Given the description of an element on the screen output the (x, y) to click on. 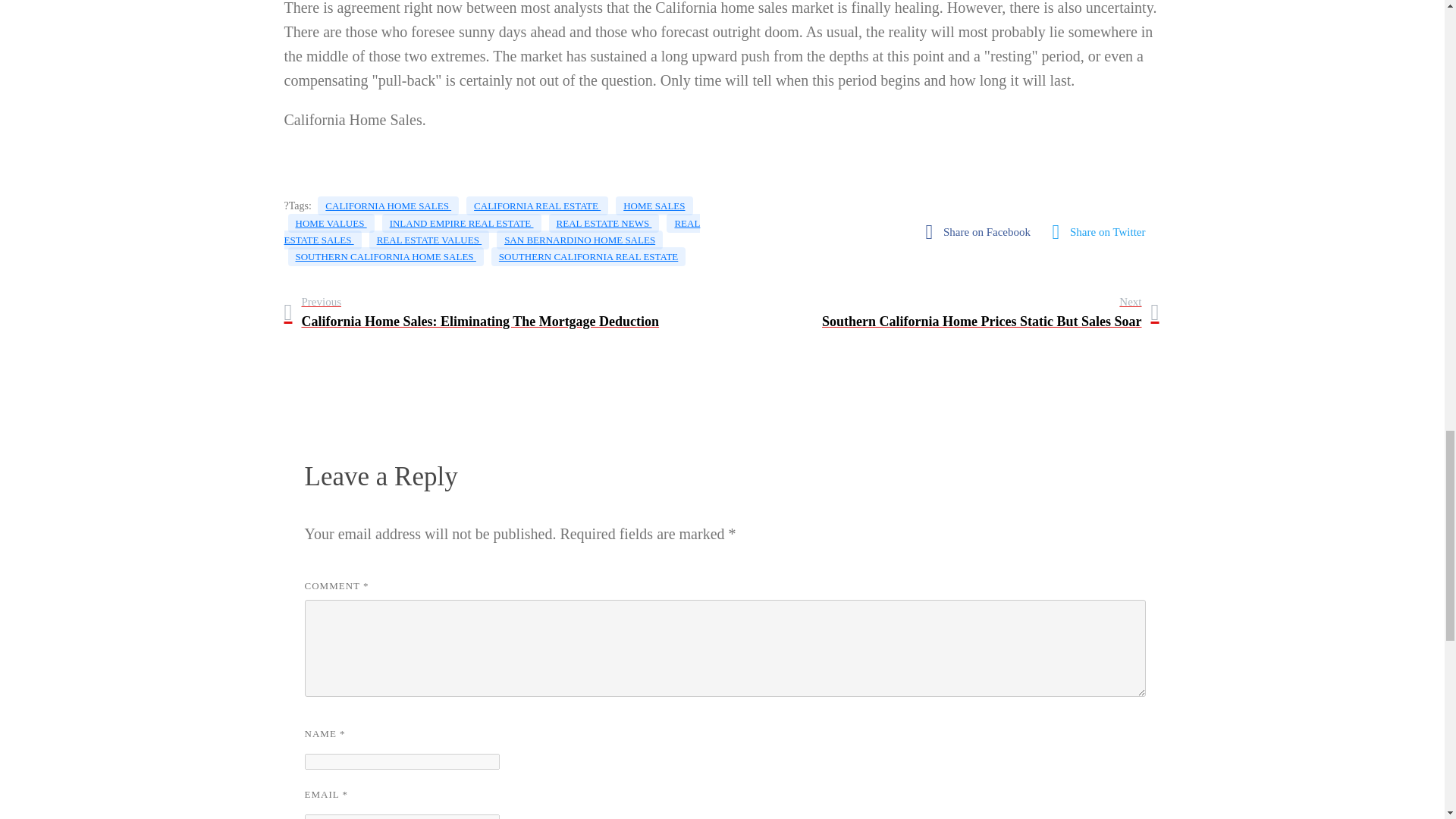
fab fa-twitter-square (1102, 232)
HOME SALES (654, 205)
fab fa-facebook-square (981, 232)
REAL ESTATE VALUES (429, 239)
REAL ESTATE SALES (990, 312)
SOUTHERN CALIFORNIA HOME SALES (491, 231)
INLAND EMPIRE REAL ESTATE (385, 256)
HOME VALUES (461, 222)
